Given the description of an element on the screen output the (x, y) to click on. 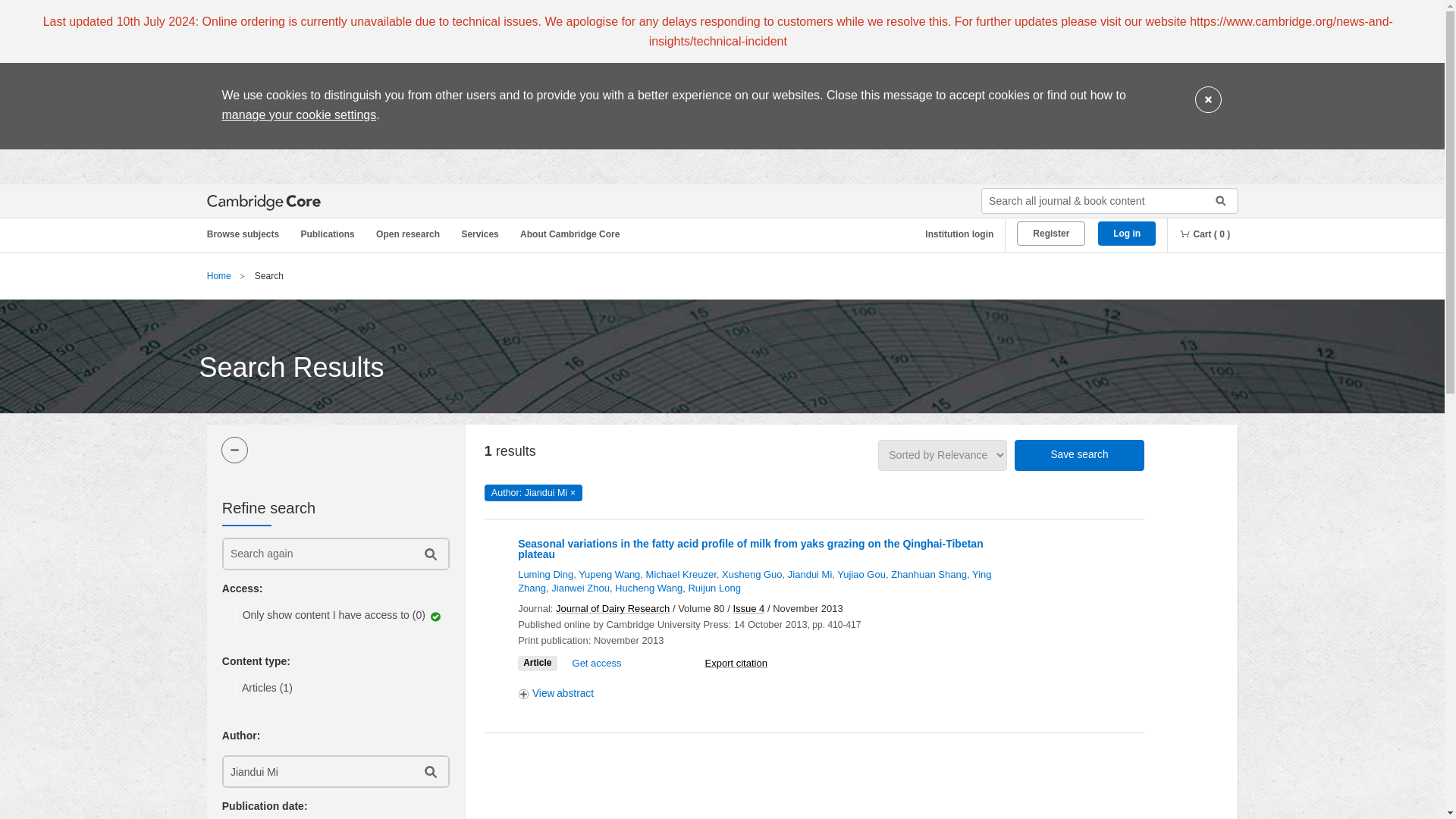
Jiandui Mi (316, 771)
Institution login (953, 234)
Submit search (1214, 200)
Close cookie message (1208, 99)
Browse subjects (250, 234)
Services (482, 234)
manage your cookie settings (298, 114)
Submit author search (429, 771)
Submit search (1214, 200)
Submit author search (429, 771)
About Cambridge Core (572, 234)
Register (1050, 233)
Publications (330, 234)
Open research (410, 234)
Submit refine search (429, 553)
